Given the description of an element on the screen output the (x, y) to click on. 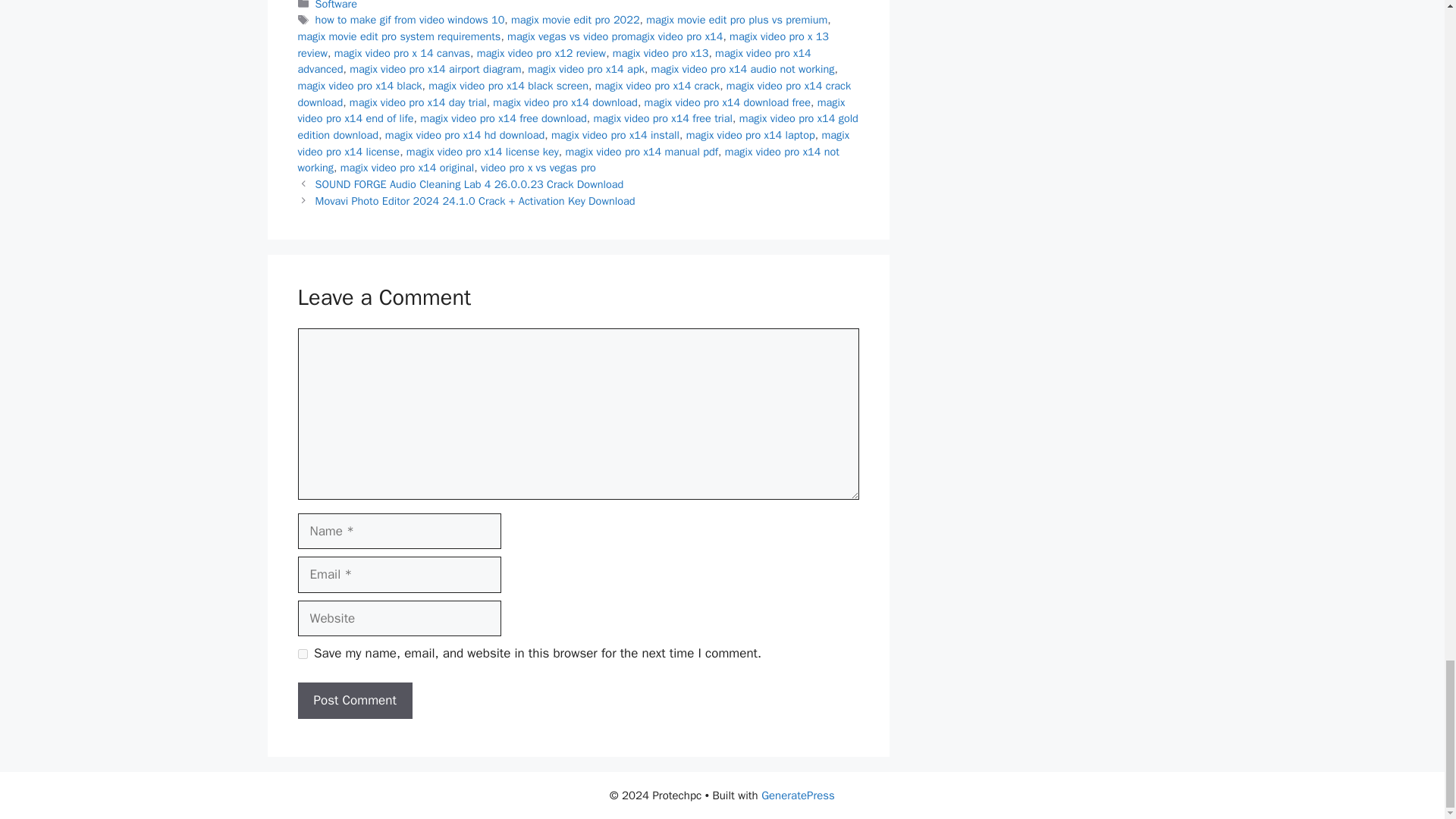
Software (335, 5)
Post Comment (354, 700)
how to make gif from video windows 10 (410, 19)
magix video pro x 13 review (562, 44)
yes (302, 654)
magix movie edit pro plus vs premium (736, 19)
magix video pro x 14 canvas (402, 52)
magix movie edit pro system requirements (398, 36)
magix vegas vs video promagix video pro x14 (614, 36)
magix movie edit pro 2022 (575, 19)
